Given the description of an element on the screen output the (x, y) to click on. 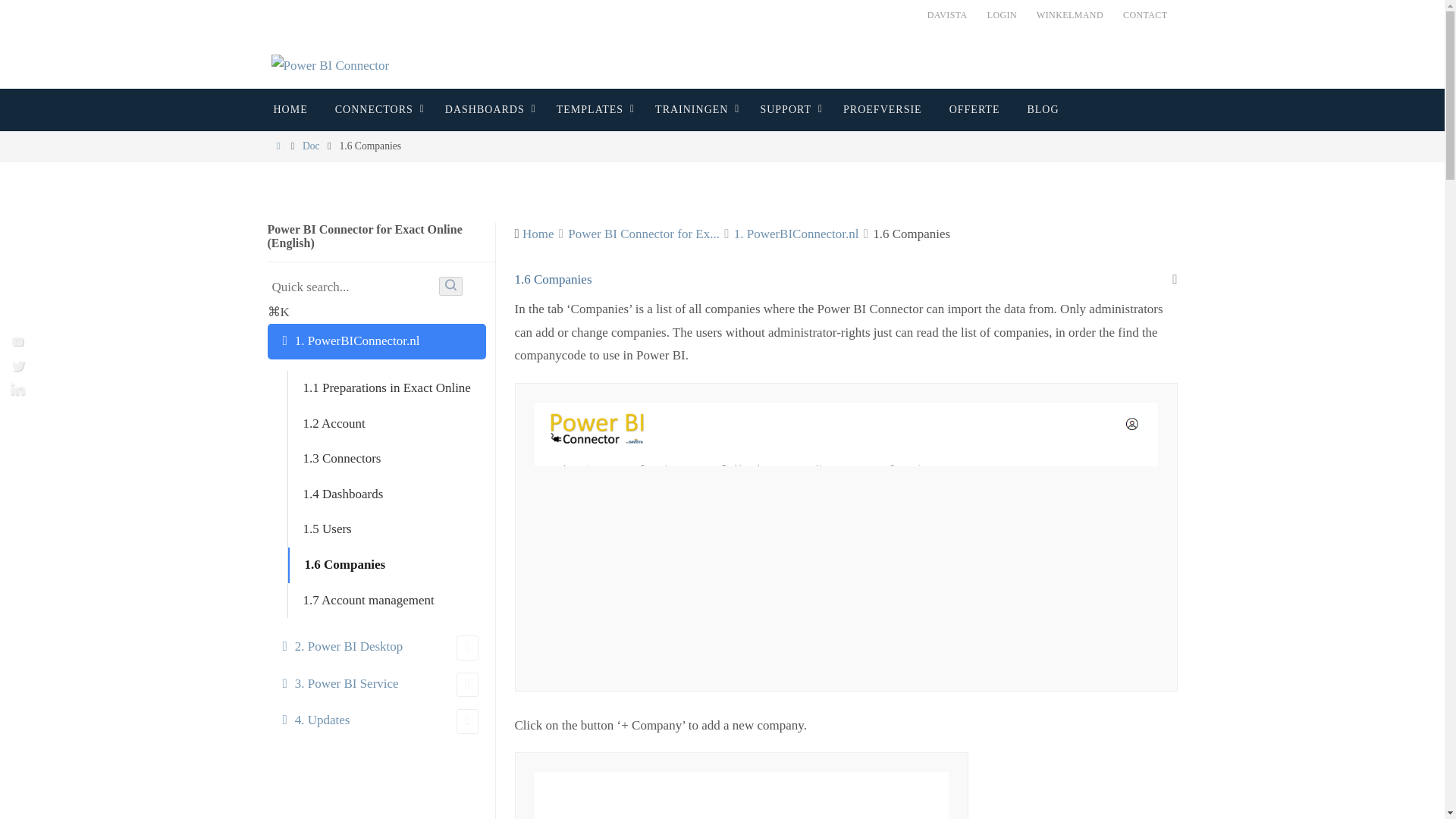
SUPPORT (787, 109)
CONNECTORS (375, 109)
HOME (289, 109)
WINKELMAND (1069, 14)
TRAININGEN (693, 109)
Search for: (350, 287)
CONTACT (1144, 14)
LOGIN (1002, 14)
TEMPLATES (592, 109)
DASHBOARDS (486, 109)
Power BI Connector (330, 65)
DAVISTA (947, 14)
